Given the description of an element on the screen output the (x, y) to click on. 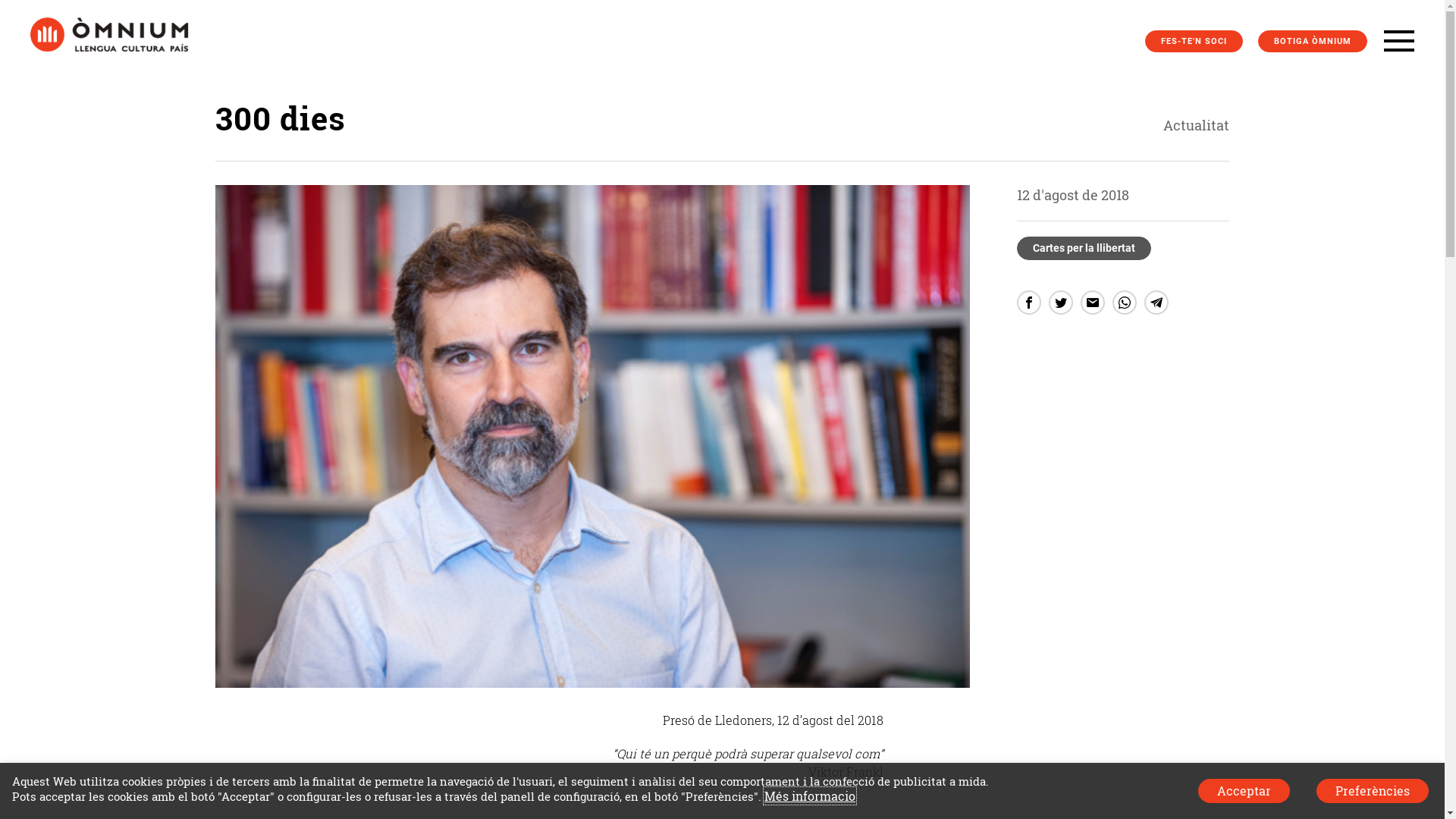
Comparteix a Facebook Element type: hover (1028, 302)
Cartes per la llibertat Element type: text (1083, 248)
Comparteix a Twitter Element type: hover (1060, 302)
Comparteix per WhatsApp Element type: hover (1124, 302)
FES-TE'N SOCI Element type: text (1193, 41)
Acceptar Element type: text (1243, 790)
Comparteix per Telegram Element type: hover (1156, 302)
Actualitat Element type: text (1111, 125)
